Given the description of an element on the screen output the (x, y) to click on. 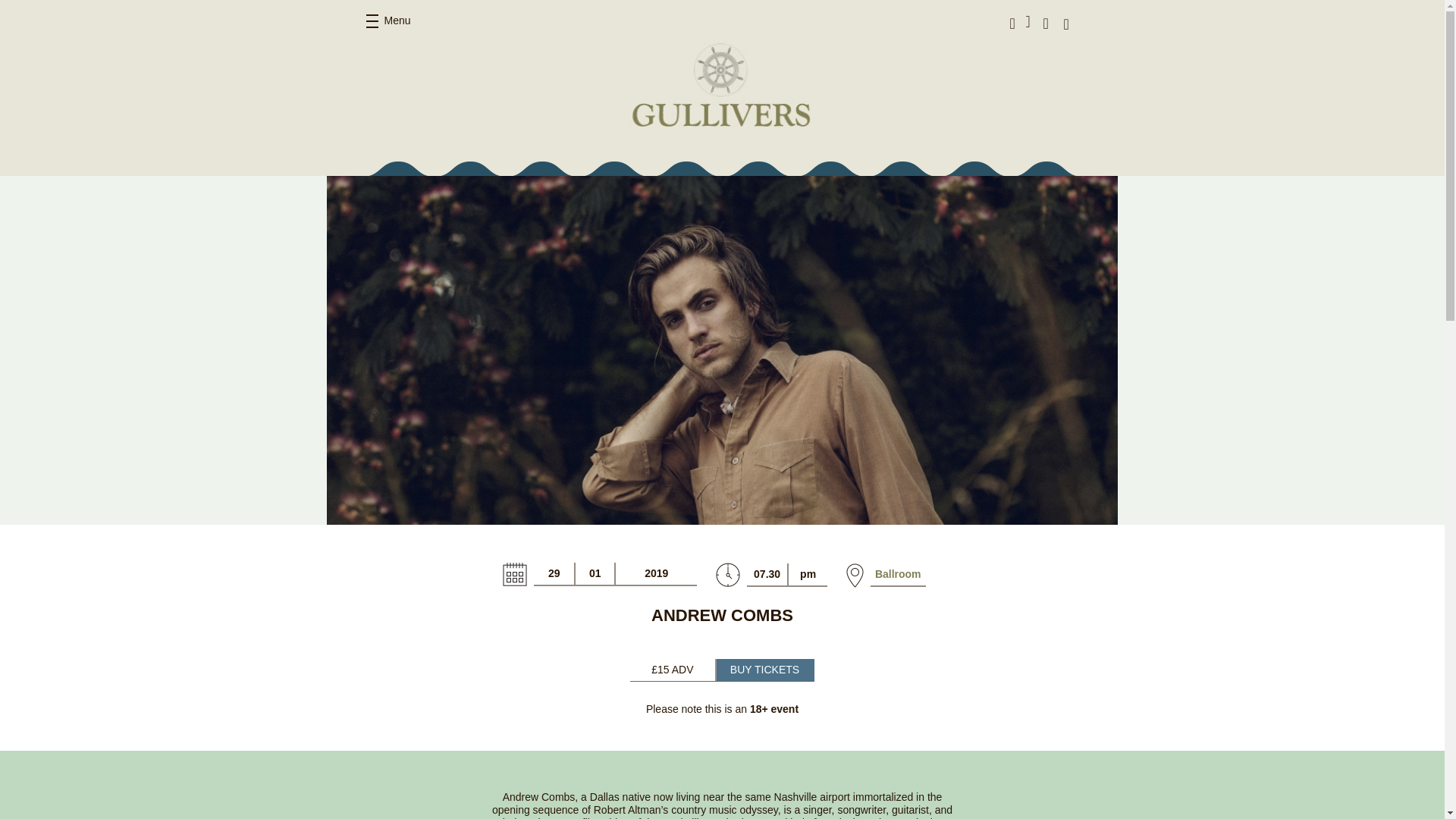
BUY TICKETS (763, 669)
submit (1125, 22)
Menu (387, 20)
